Given the description of an element on the screen output the (x, y) to click on. 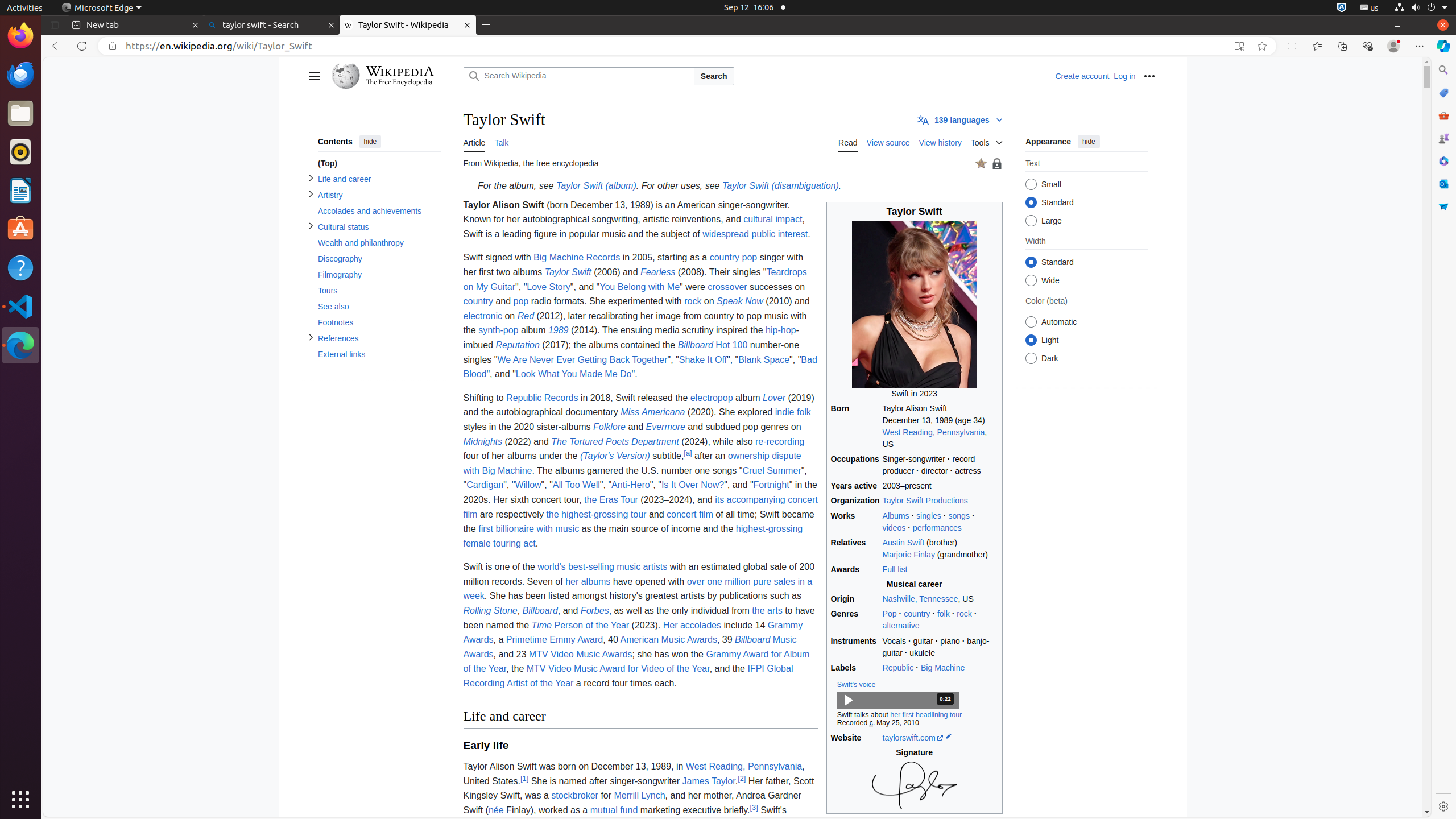
Shake It Off Element type: link (702, 359)
Grammy Awards Element type: link (632, 631)
To get missing image descriptions, open the context menu. Element type: link (914, 784)
Speak Now Element type: link (739, 301)
Settings Element type: push-button (1443, 806)
